Given the description of an element on the screen output the (x, y) to click on. 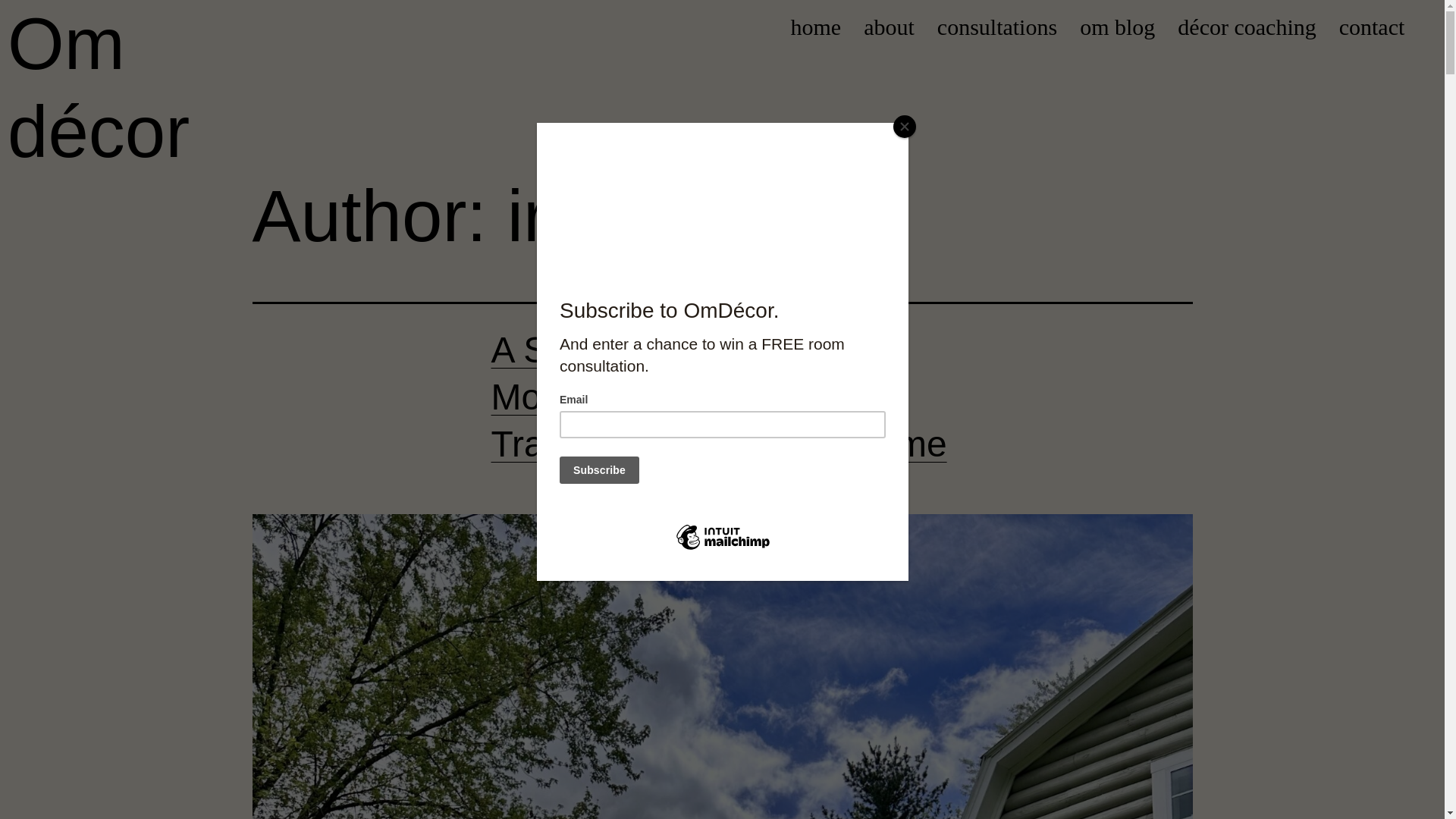
contact (1372, 26)
home (815, 26)
consultations (997, 26)
about (888, 26)
om blog (1117, 26)
